Given the description of an element on the screen output the (x, y) to click on. 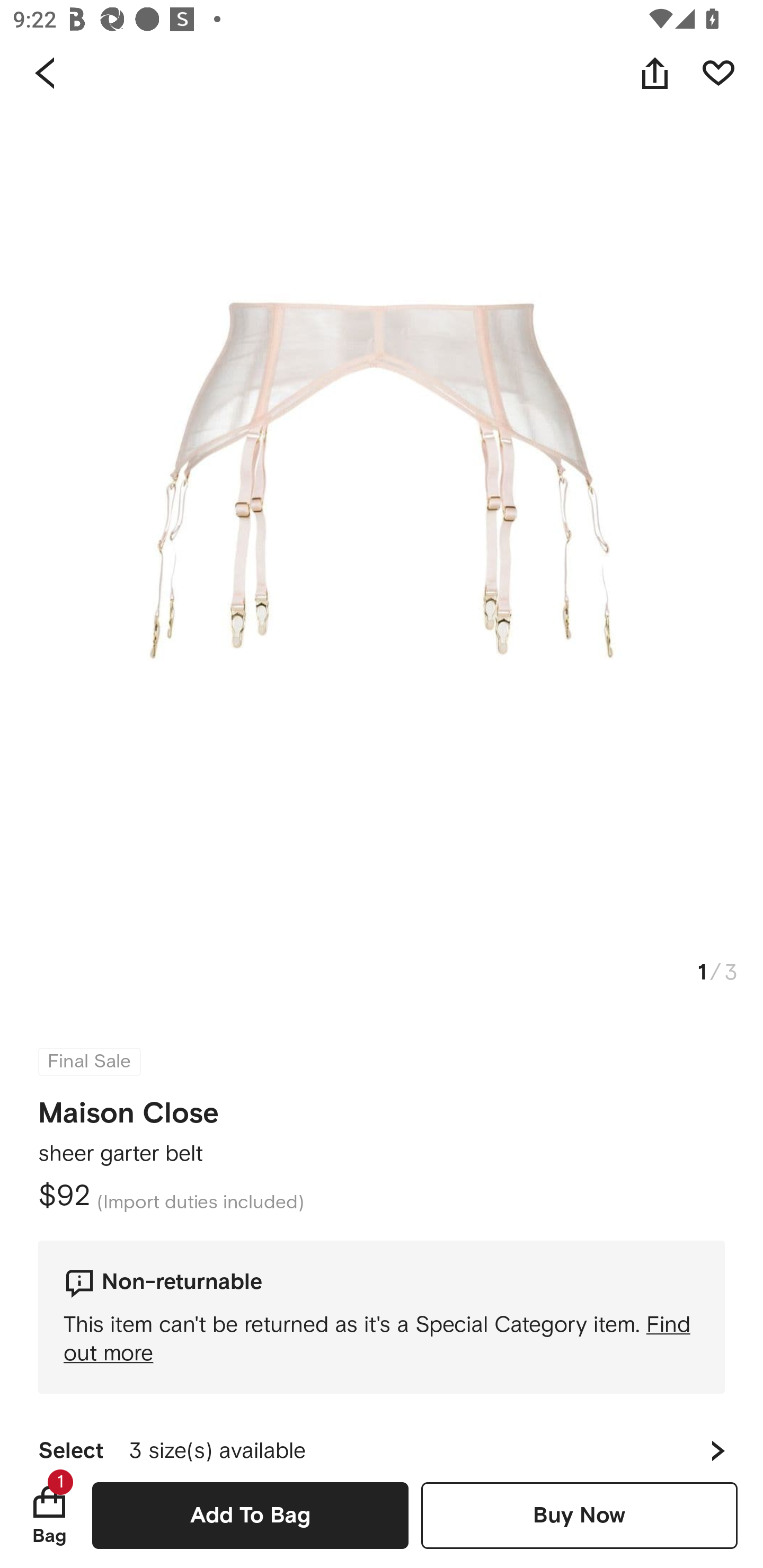
Maison Close (128, 1113)
Select 3 size(s) available (381, 1437)
Bag 1 (49, 1515)
Add To Bag (250, 1515)
Buy Now (579, 1515)
